Given the description of an element on the screen output the (x, y) to click on. 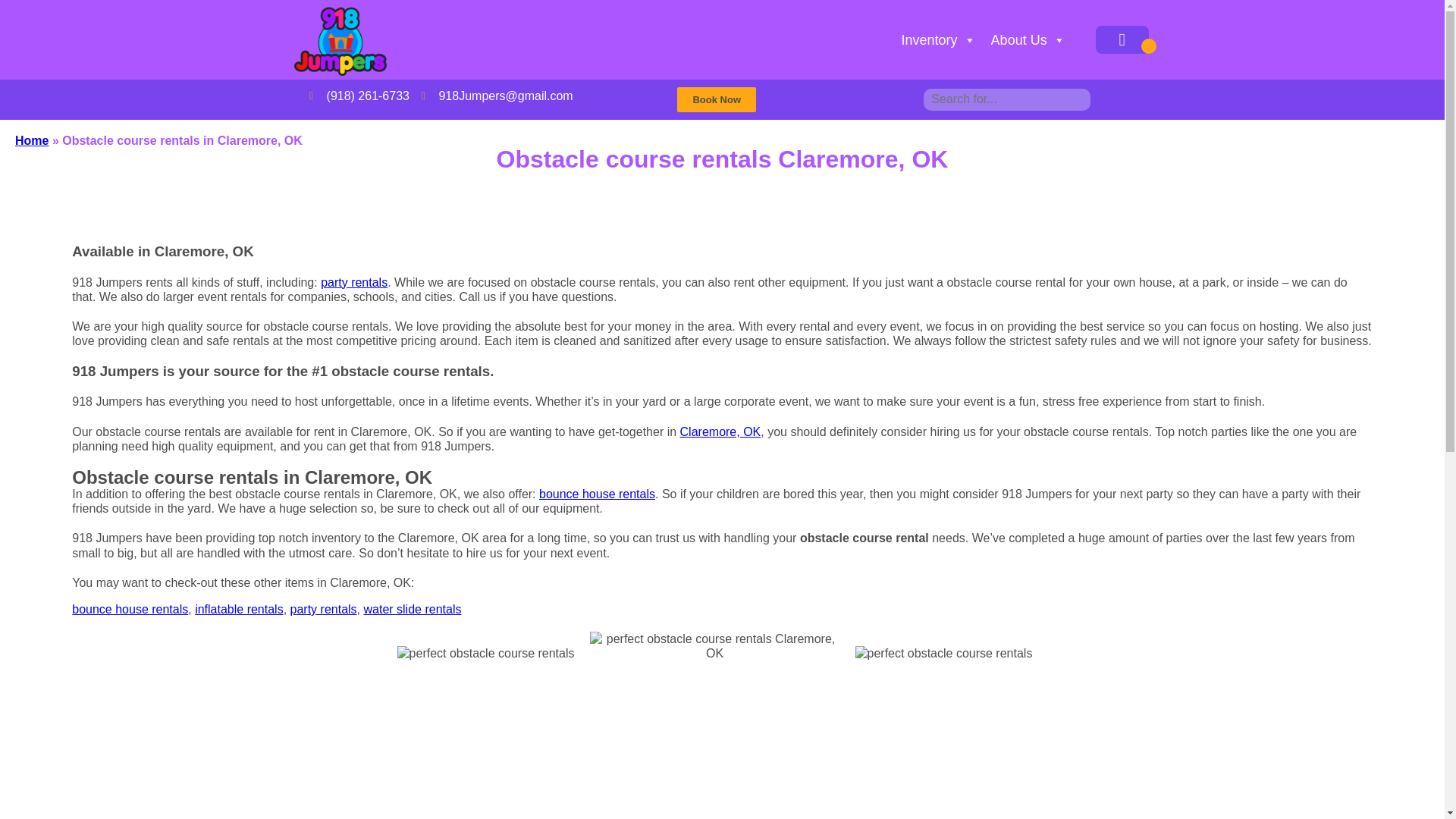
party rentals (353, 282)
inflatable rentals (239, 608)
Book Now (716, 99)
bounce house rentals (129, 608)
Claremore, OK (720, 431)
Home (31, 140)
party rentals (322, 608)
Inventory (938, 40)
water slide rentals (411, 608)
Search (22, 9)
